Given the description of an element on the screen output the (x, y) to click on. 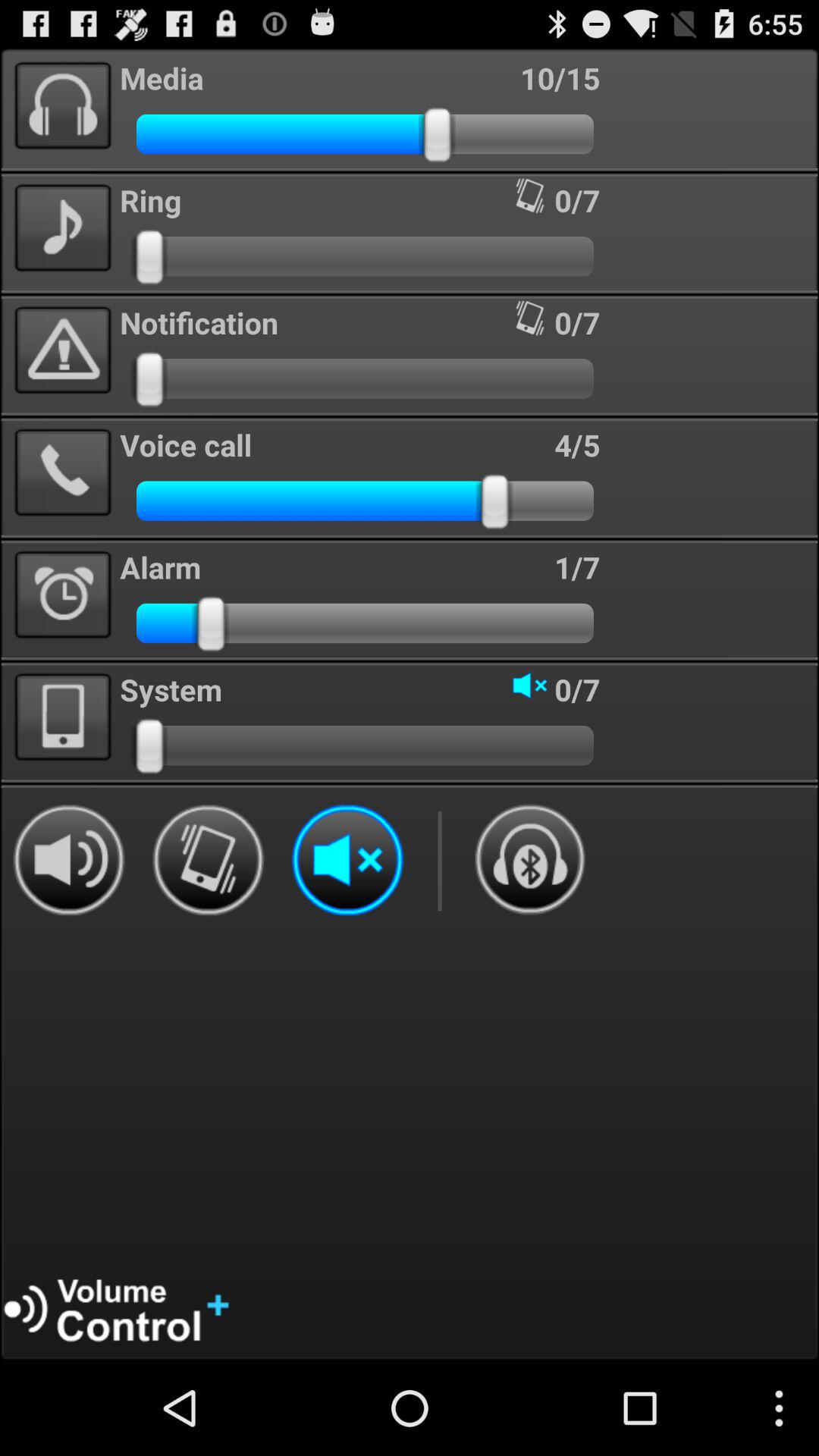
go to clock icon (63, 595)
select the icon which is before the media (63, 106)
